Given the description of an element on the screen output the (x, y) to click on. 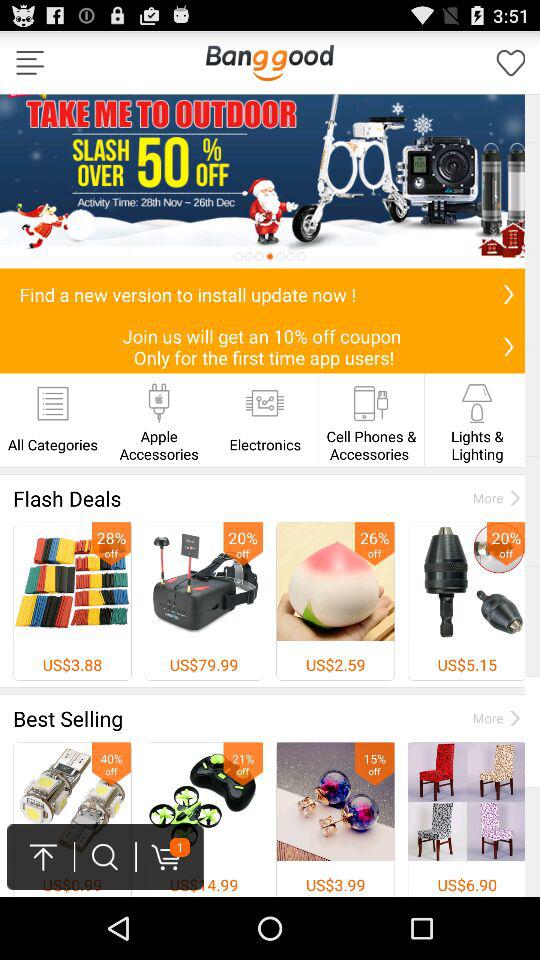
install update now (508, 294)
